Given the description of an element on the screen output the (x, y) to click on. 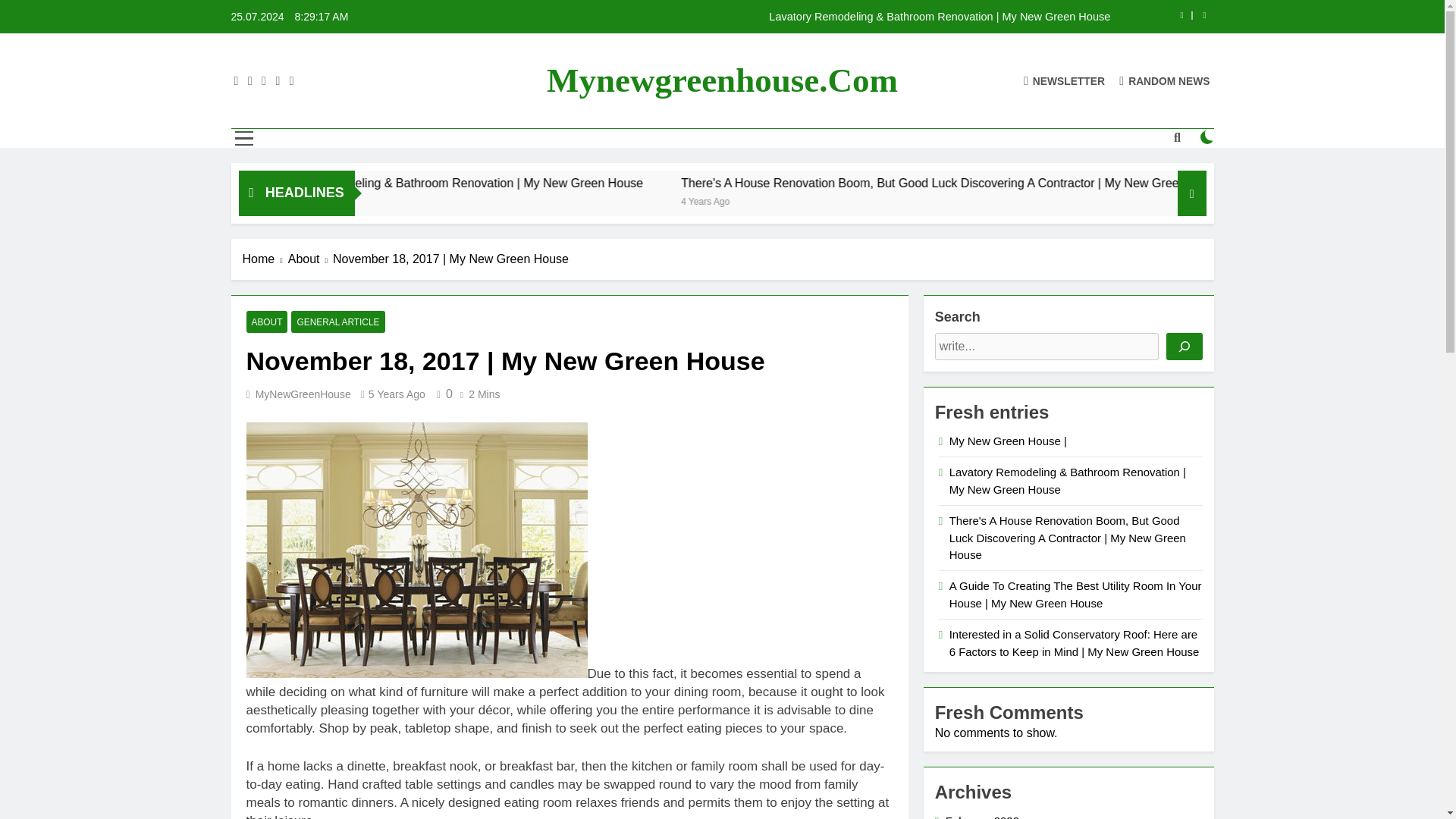
RANDOM NEWS (1164, 80)
4 Years Ago (908, 200)
NEWSLETTER (1064, 80)
4 Years Ago (340, 200)
Mynewgreenhouse.Com (722, 80)
on (1206, 137)
4 Years Ago (498, 200)
